Given the description of an element on the screen output the (x, y) to click on. 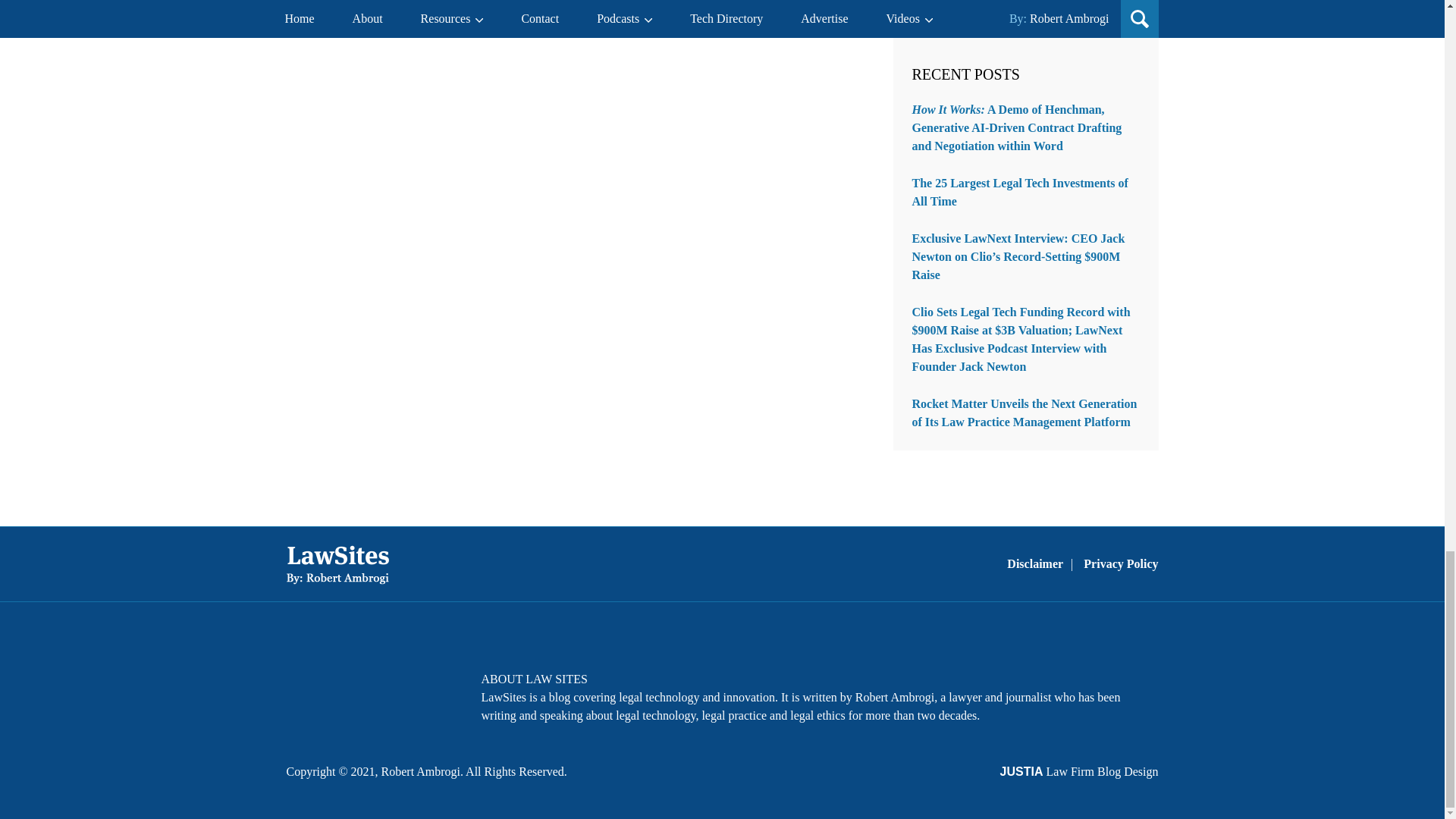
Feed (424, 688)
Twitter (344, 688)
Facebook (304, 688)
LinkedIn (384, 688)
